Given the description of an element on the screen output the (x, y) to click on. 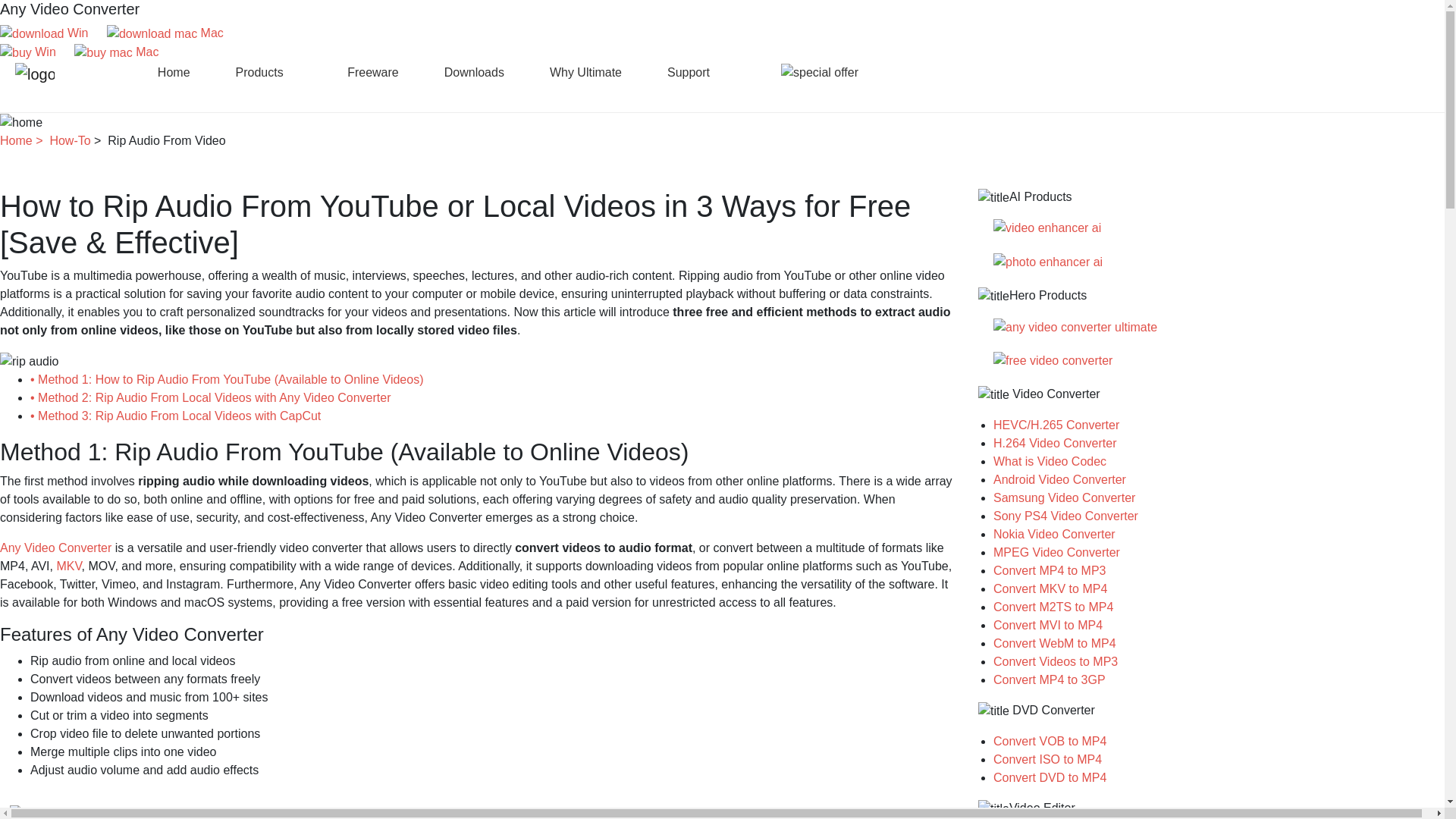
Home (173, 72)
Grab Now (27, 26)
Products (268, 72)
